Given the description of an element on the screen output the (x, y) to click on. 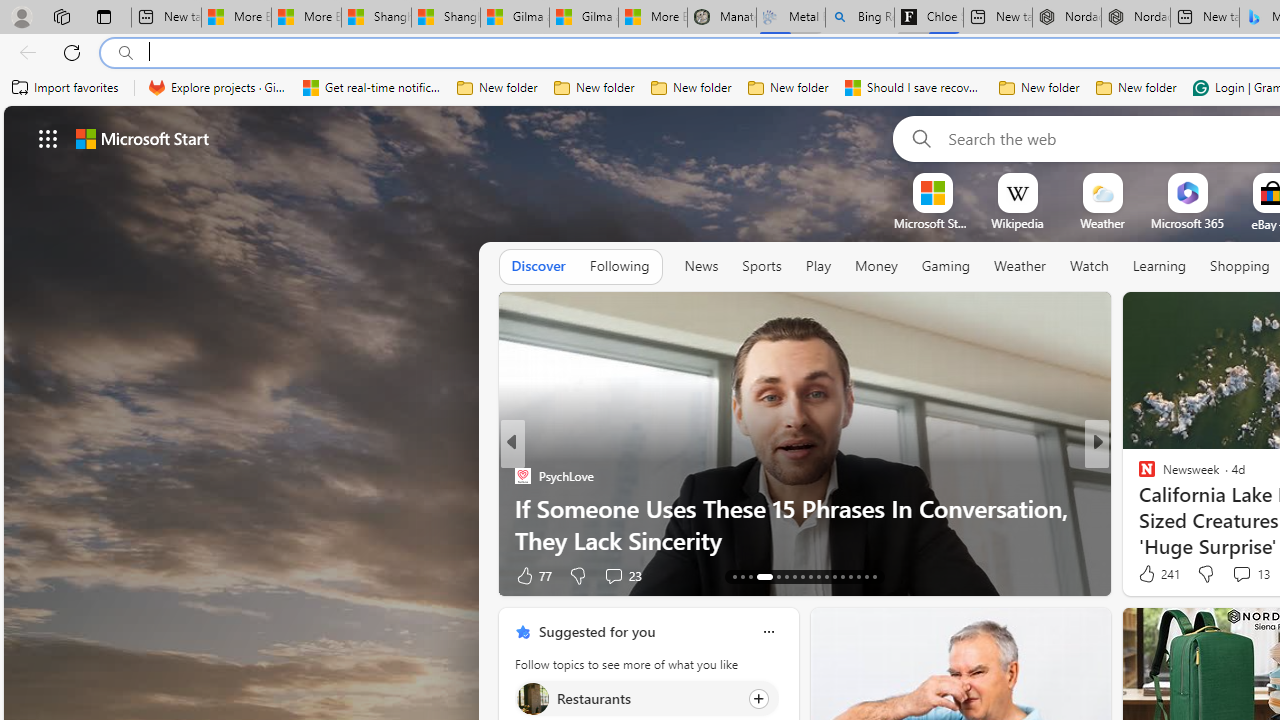
View comments 42 Comment (1237, 574)
New folder (1136, 88)
Manatee Mortality Statistics | FWC (721, 17)
View comments 5 Comment (1234, 574)
Forge of Empires (1175, 507)
AutomationID: tab-28 (865, 576)
AutomationID: tab-17 (774, 576)
View comments 13 Comment (1249, 574)
AutomationID: tab-20 (801, 576)
Class: control (47, 138)
